Given the description of an element on the screen output the (x, y) to click on. 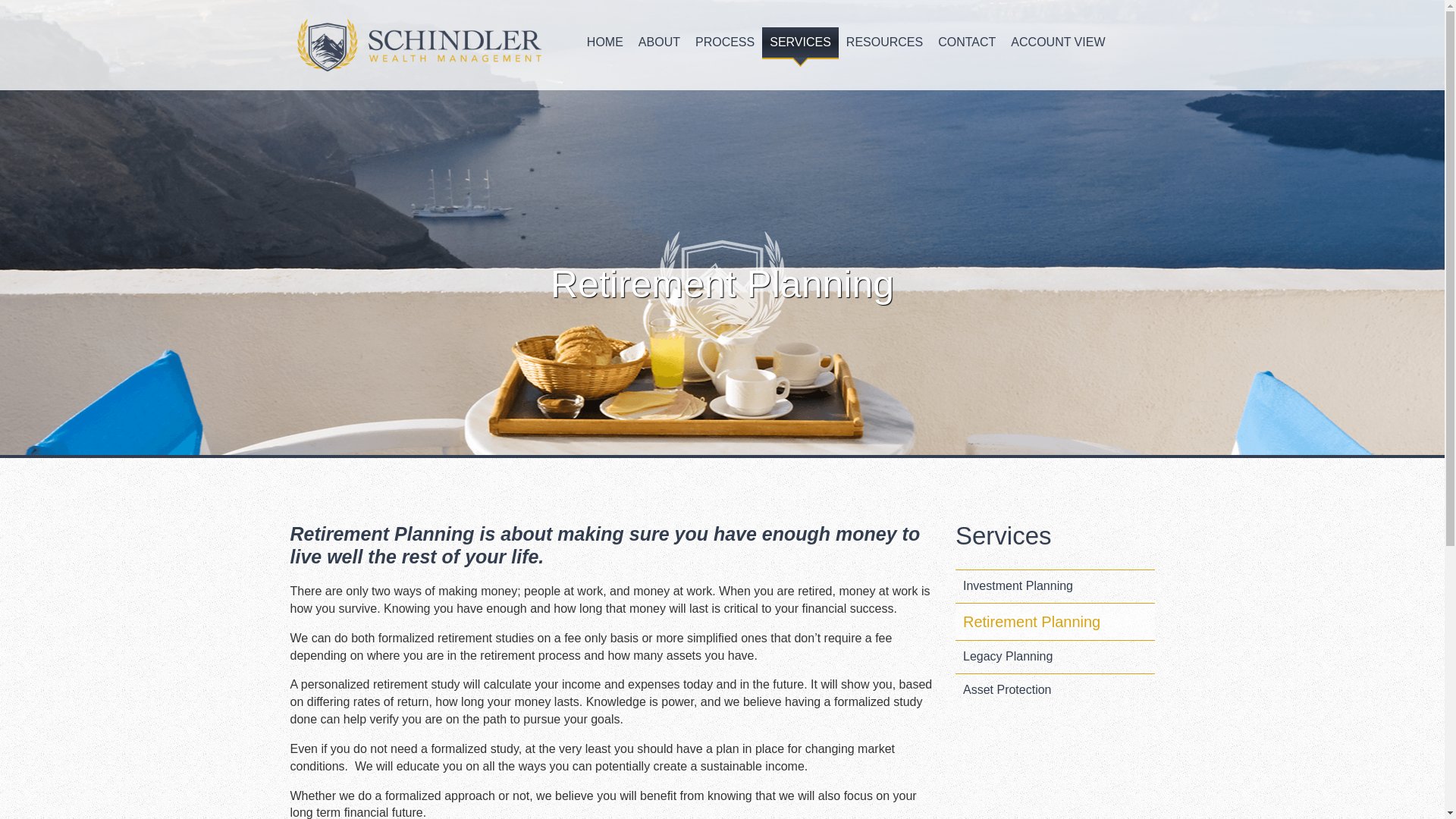
SERVICES (799, 42)
Resources (884, 42)
PROCESS (724, 42)
HOME (604, 42)
ACCOUNT VIEW (1057, 42)
CONTACT (966, 42)
Account View (1057, 42)
Skip to main content (55, 8)
RESOURCES (884, 42)
ABOUT (658, 42)
